Given the description of an element on the screen output the (x, y) to click on. 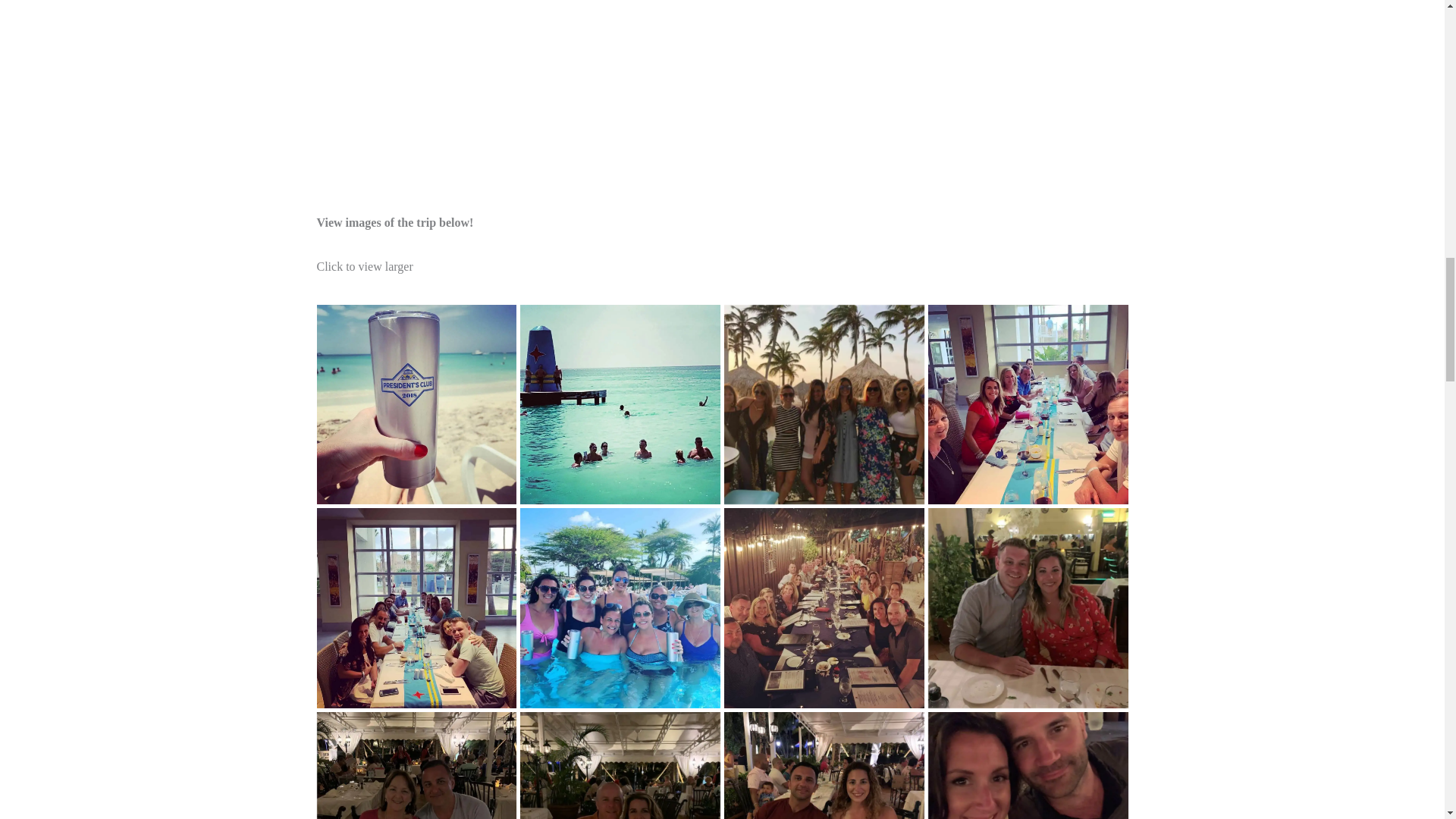
14 (619, 404)
38 (619, 765)
36 (823, 765)
8 (1028, 404)
19 (416, 404)
40 (416, 765)
41 (823, 607)
43 (823, 404)
7 (416, 607)
9 (619, 607)
